Given the description of an element on the screen output the (x, y) to click on. 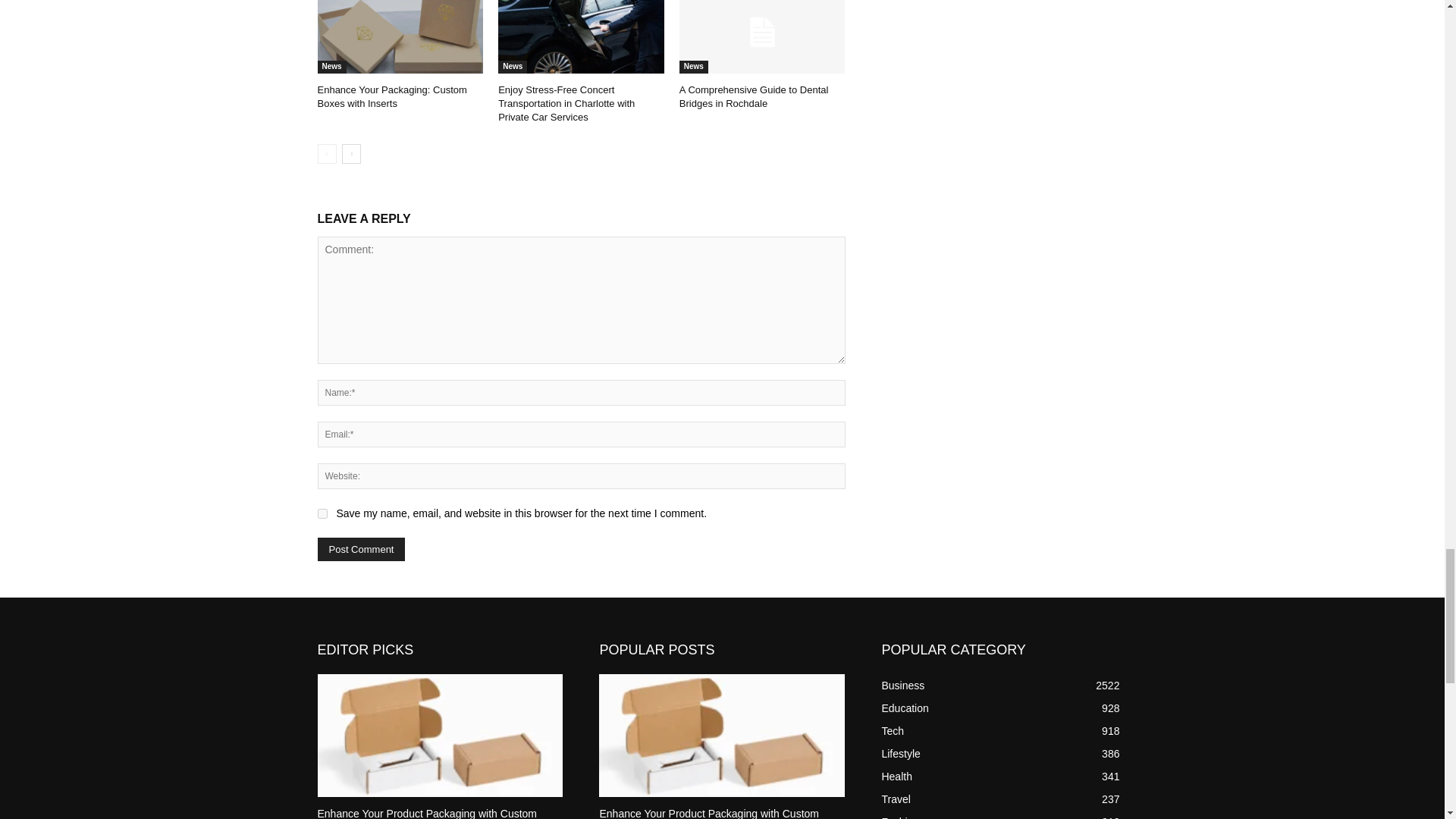
yes (321, 513)
Post Comment (360, 549)
